Given the description of an element on the screen output the (x, y) to click on. 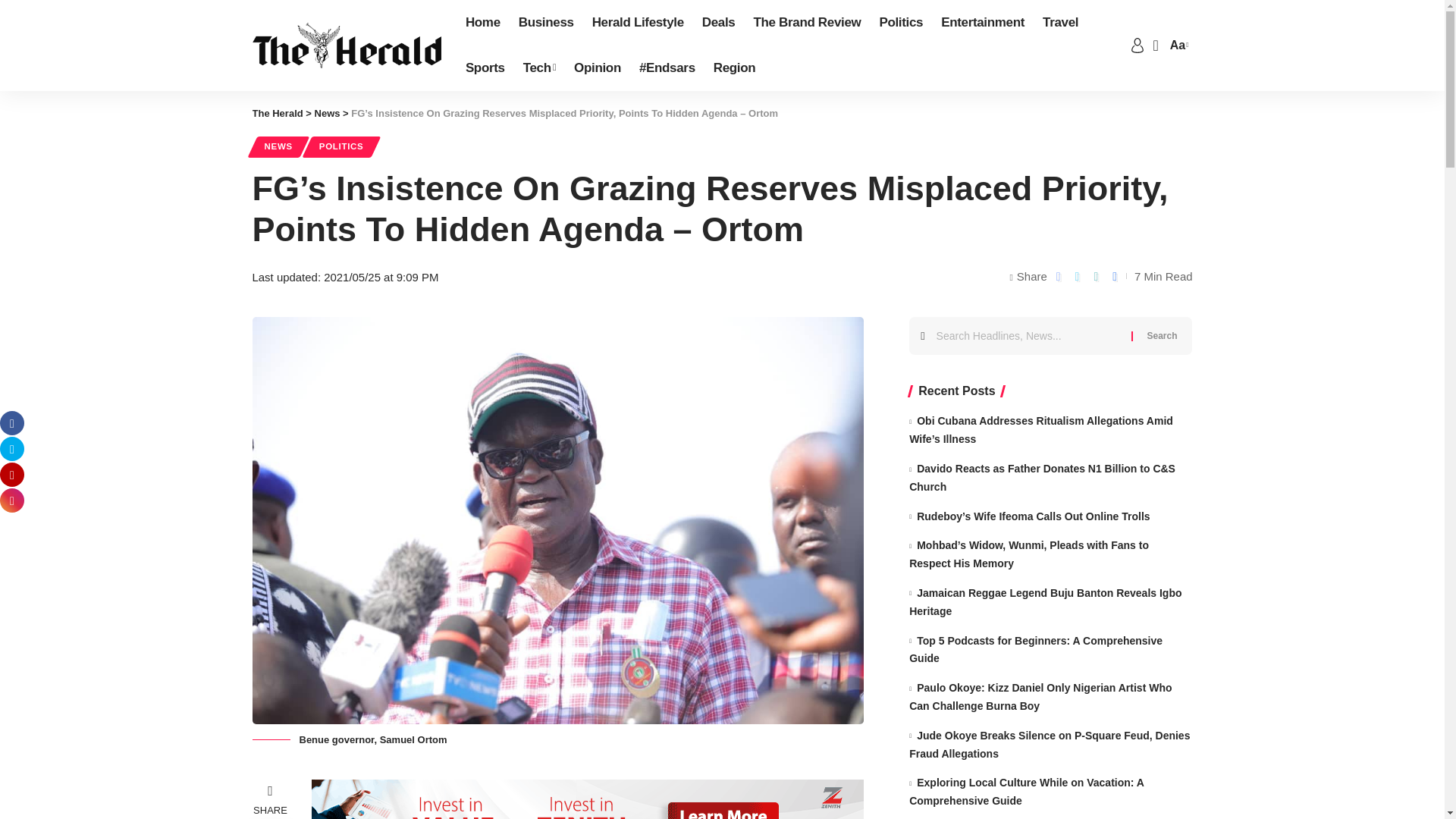
Sports (485, 67)
Entertainment (982, 22)
Deals (718, 22)
Go to The Herald. (276, 112)
The Herald (346, 44)
Politics (900, 22)
Business (546, 22)
Search (1161, 335)
Aa (1177, 45)
Travel (1060, 22)
